Given the description of an element on the screen output the (x, y) to click on. 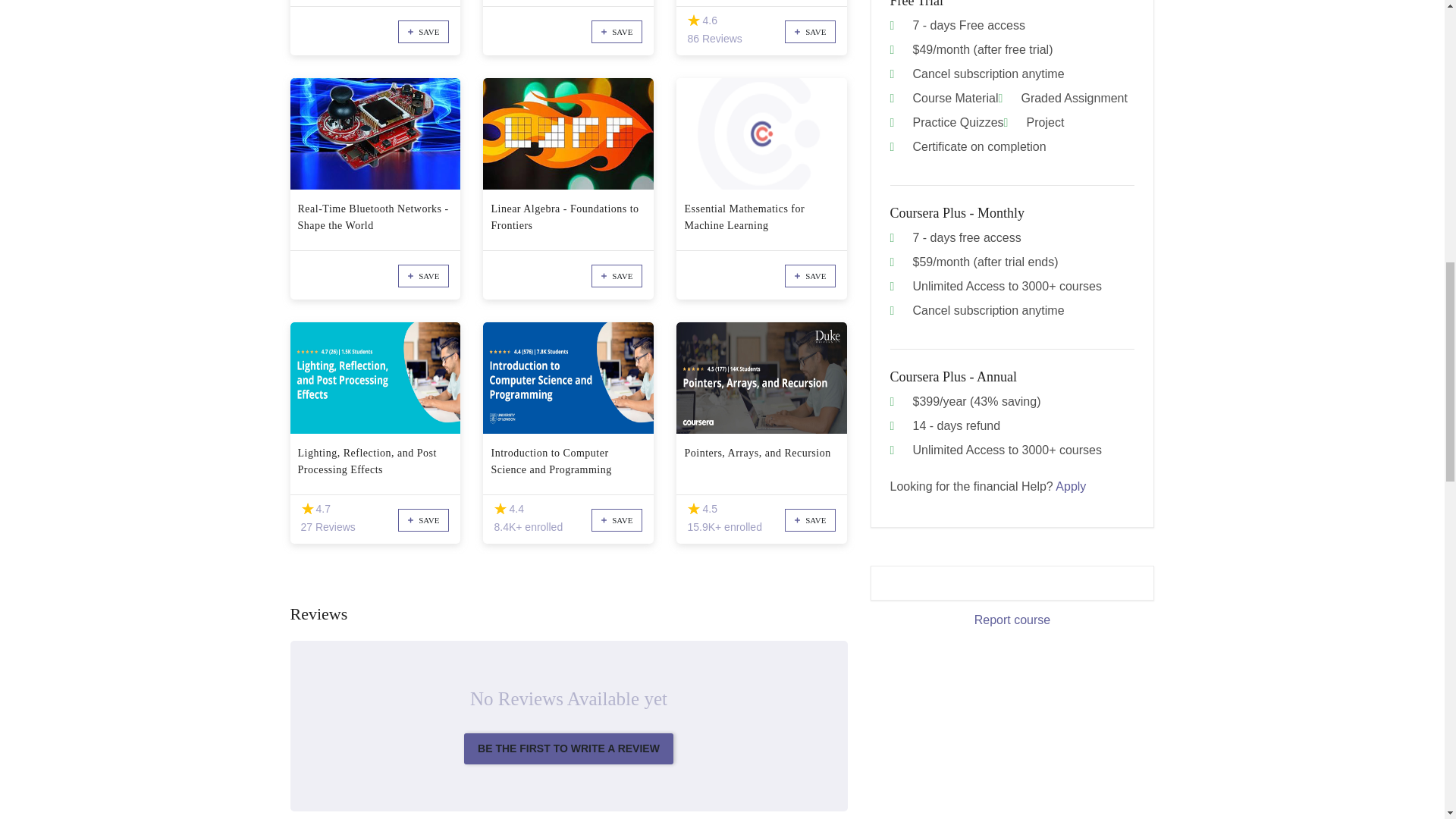
4.5 (693, 508)
4.7 (306, 508)
4.6 (693, 20)
4.4 (499, 508)
